Given the description of an element on the screen output the (x, y) to click on. 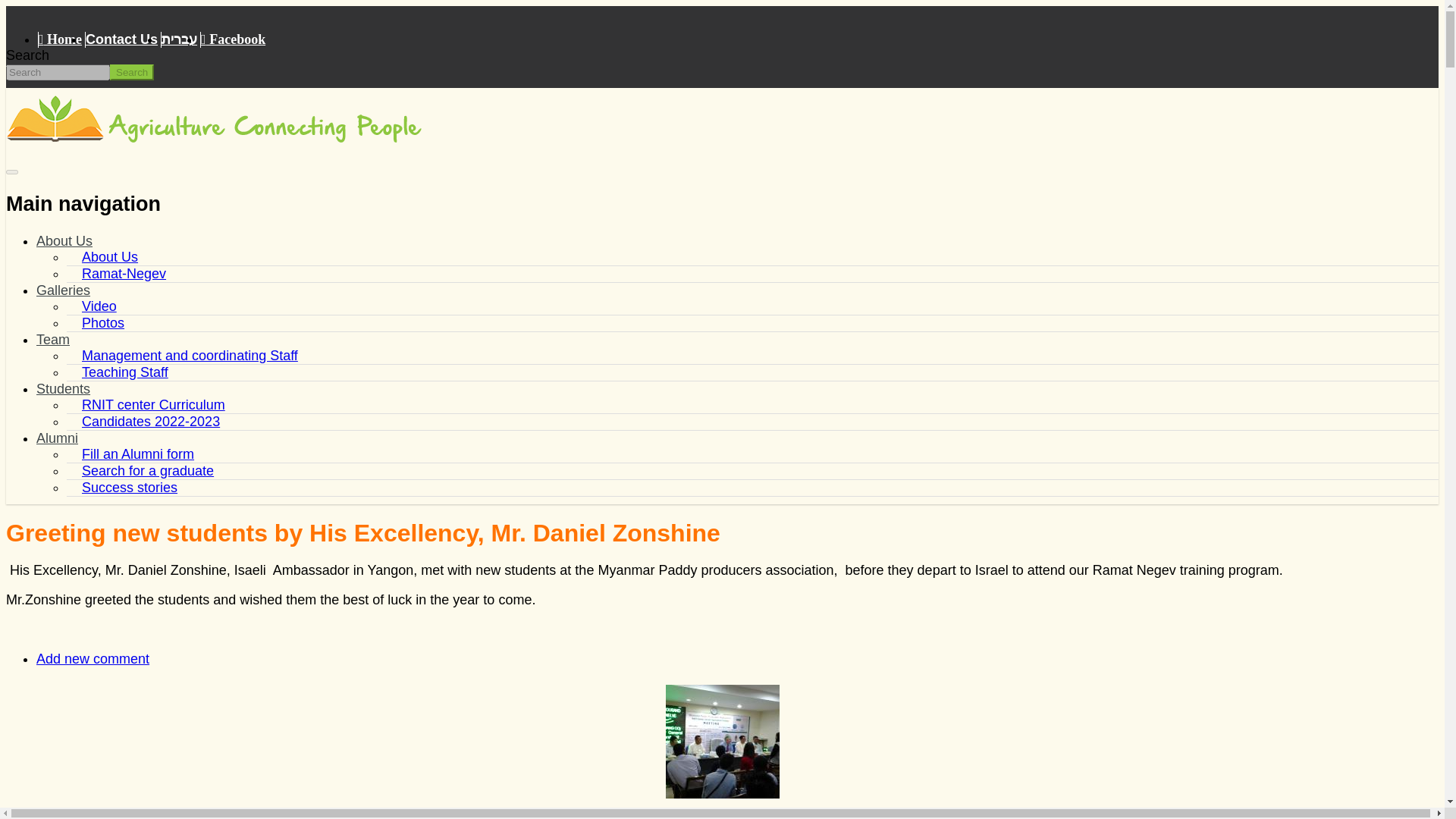
Management and coordinating Staff (189, 355)
Search for a graduate (147, 470)
Video (99, 306)
Fill an Alumni form (137, 453)
The Ramat Negev International Training Center  (54, 137)
RNIT center Curriculum (153, 404)
Who Are we? (64, 240)
About Us (109, 257)
Teaching Staff (124, 371)
